Given the description of an element on the screen output the (x, y) to click on. 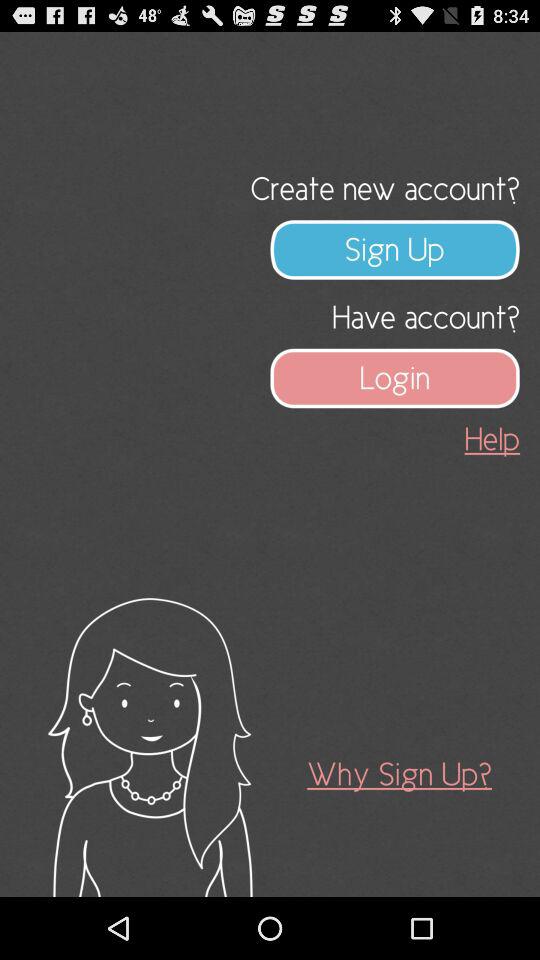
launch the login item (395, 378)
